Given the description of an element on the screen output the (x, y) to click on. 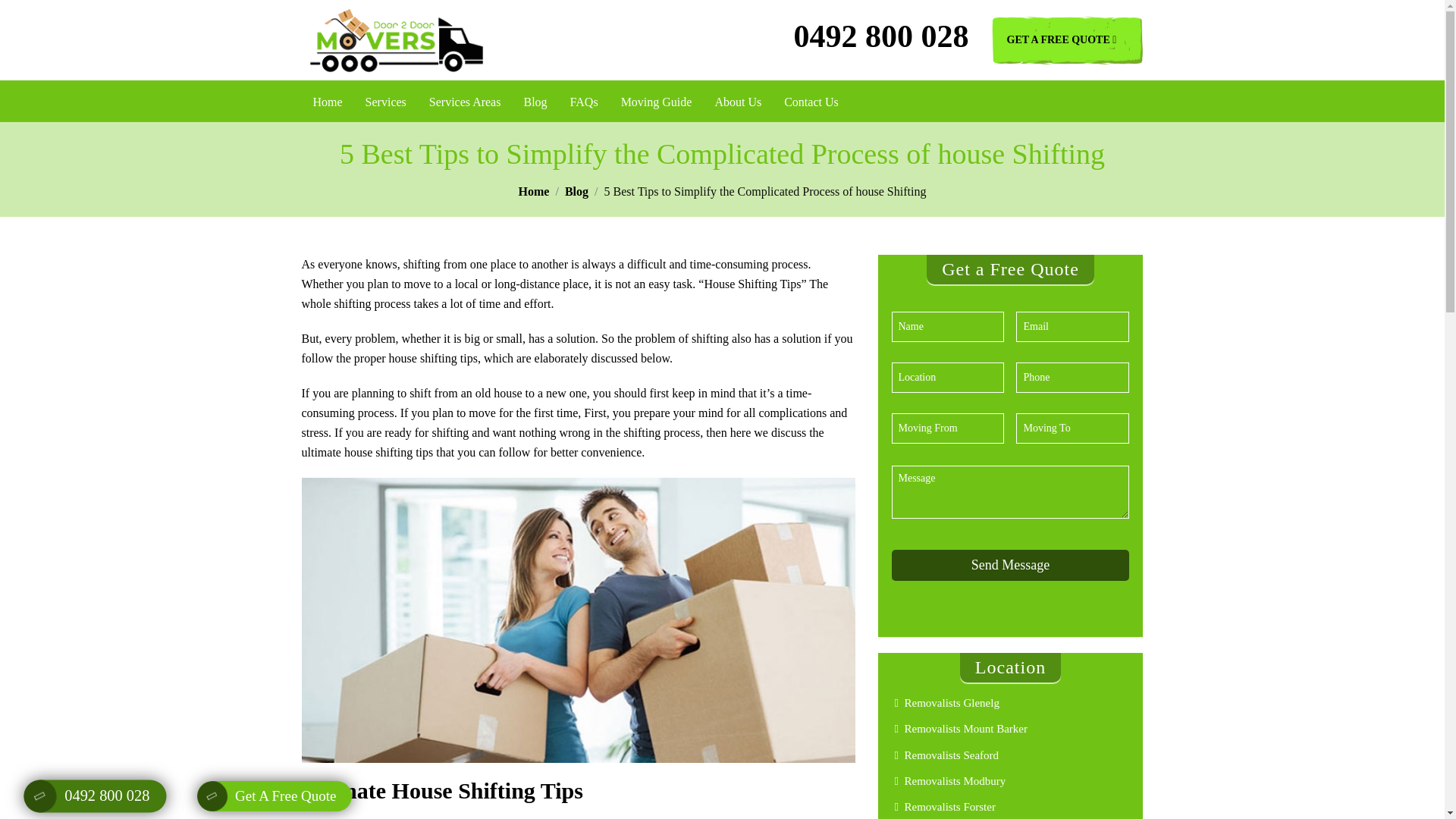
Send Message (1010, 564)
Services (385, 102)
0492 800 028 (880, 39)
Home (327, 102)
Services Areas (464, 102)
GET A FREE QUOTE (1066, 39)
